Given the description of an element on the screen output the (x, y) to click on. 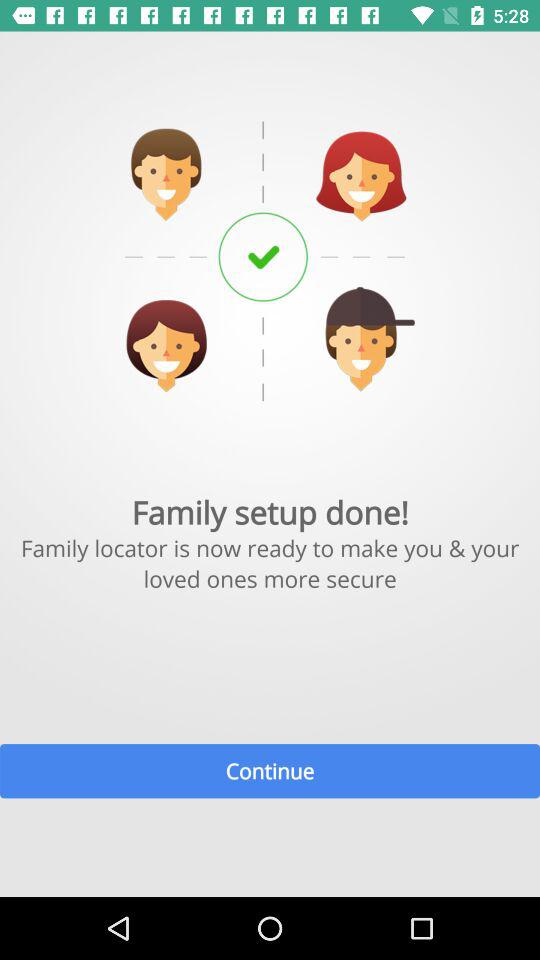
choose the continue item (270, 770)
